Given the description of an element on the screen output the (x, y) to click on. 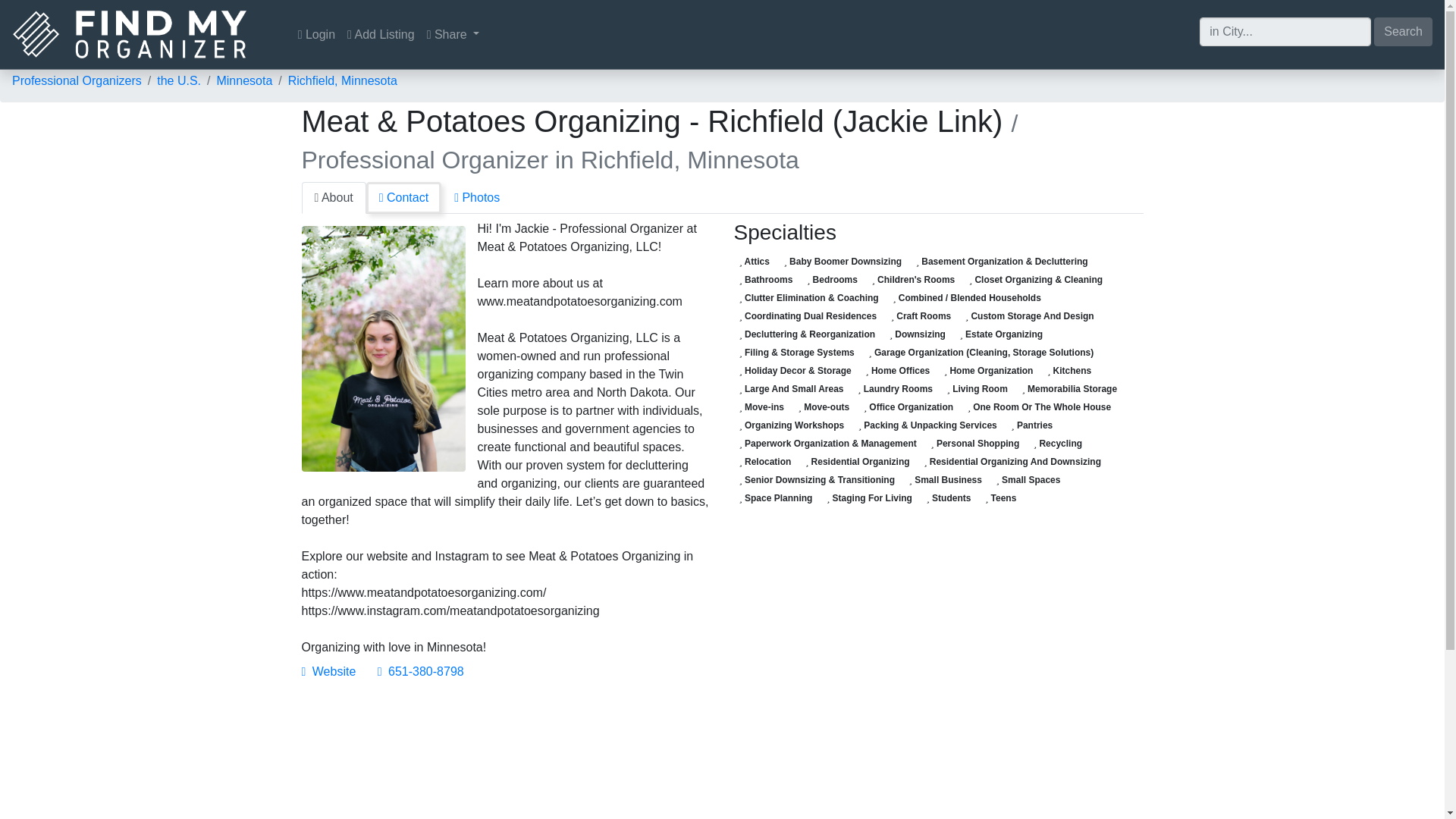
Richfield, Minnesota (342, 80)
Professional Organizers (76, 80)
Advertisement (506, 759)
Contact (403, 197)
Minnesota (243, 80)
Website (328, 671)
Add Listing (380, 34)
the U.S. (178, 80)
651-380-8798 (420, 671)
About (333, 197)
Share (453, 34)
Photos (476, 197)
Search (1403, 30)
Login (316, 34)
